Given the description of an element on the screen output the (x, y) to click on. 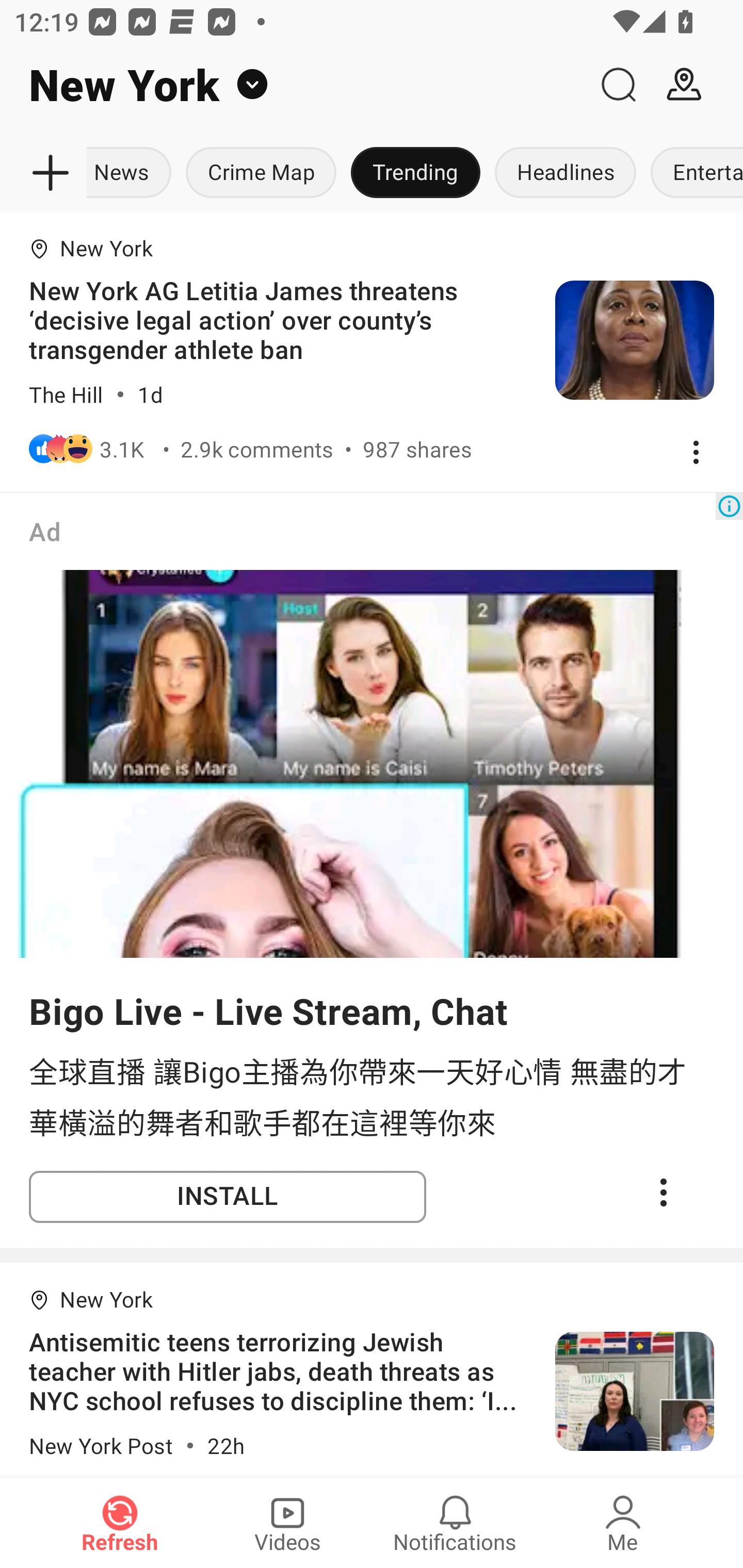
New York (292, 84)
World News (132, 172)
Crime Map (260, 172)
Trending (415, 172)
Headlines (565, 172)
Ad Choices Icon (729, 506)
Bigo Live - Live Stream, Chat (268, 1010)
全球直播 讓Bigo主播為你帶來一天好心情 無盡的才華橫溢的舞者和歌手都在這裡等你來 (371, 1095)
INSTALL (227, 1197)
Videos (287, 1522)
Notifications (455, 1522)
Me (622, 1522)
